Given the description of an element on the screen output the (x, y) to click on. 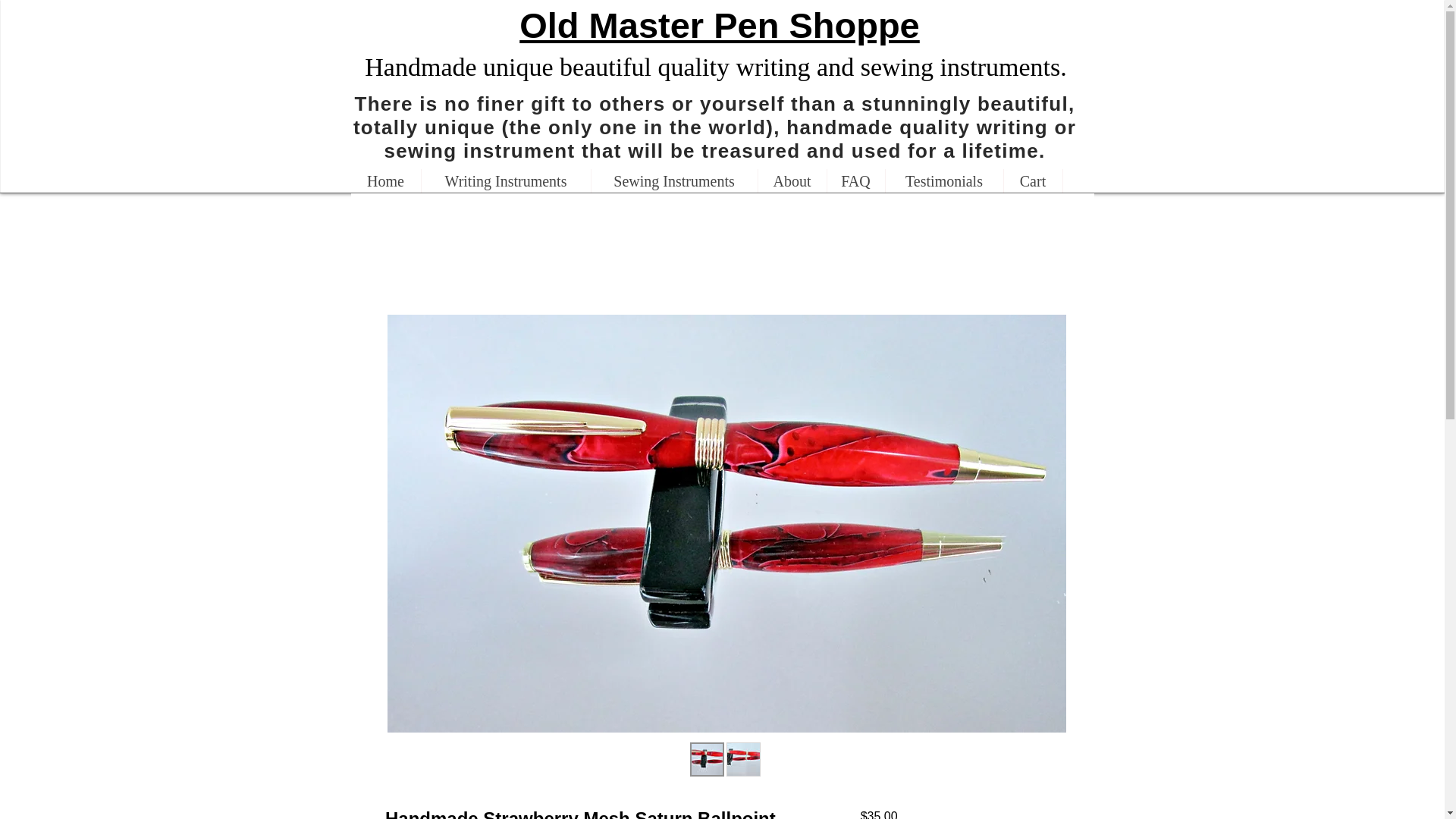
Home (385, 180)
Cart (1032, 180)
Testimonials (943, 180)
About (791, 180)
FAQ (856, 180)
